Given the description of an element on the screen output the (x, y) to click on. 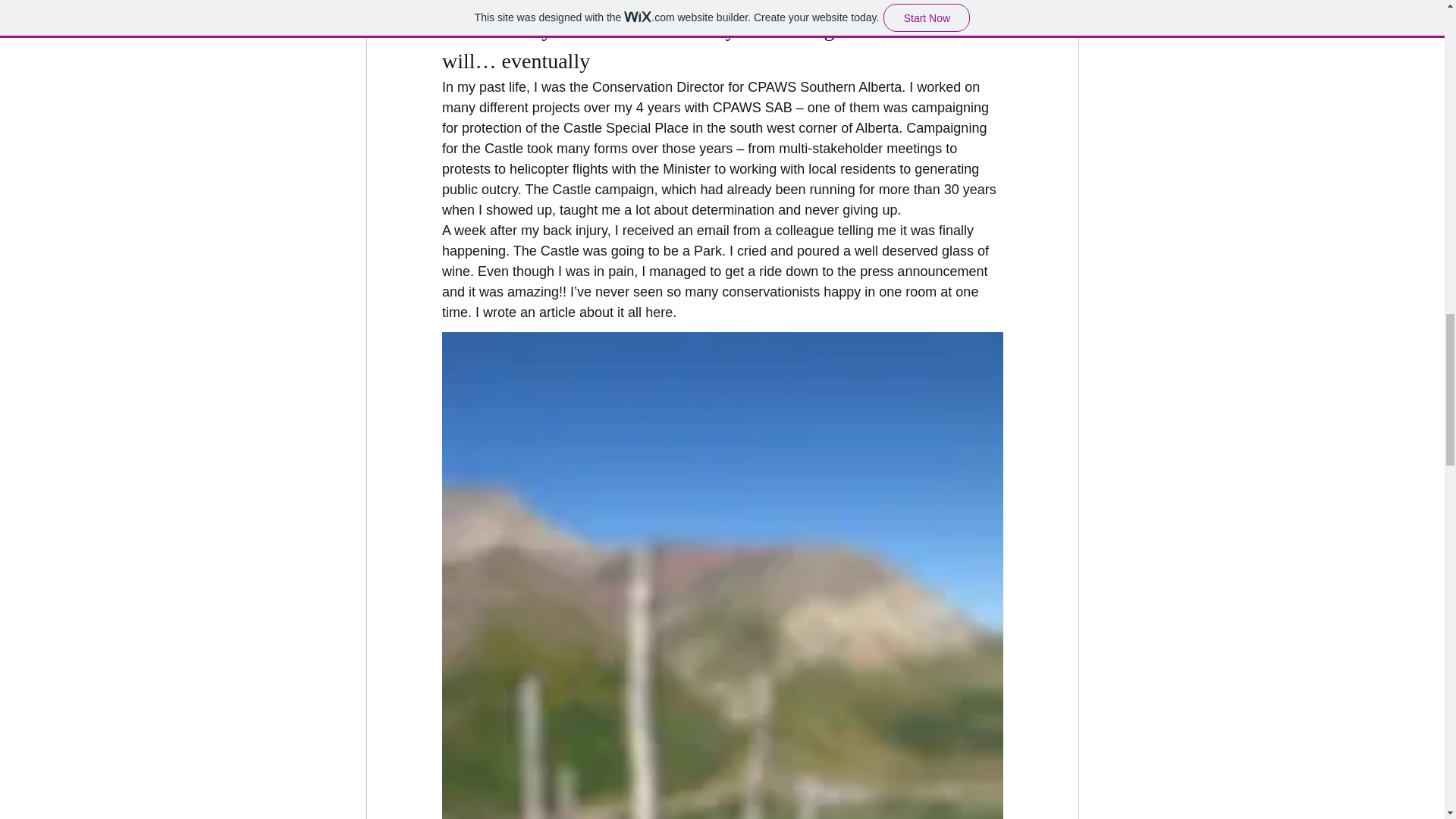
here (658, 312)
